Given the description of an element on the screen output the (x, y) to click on. 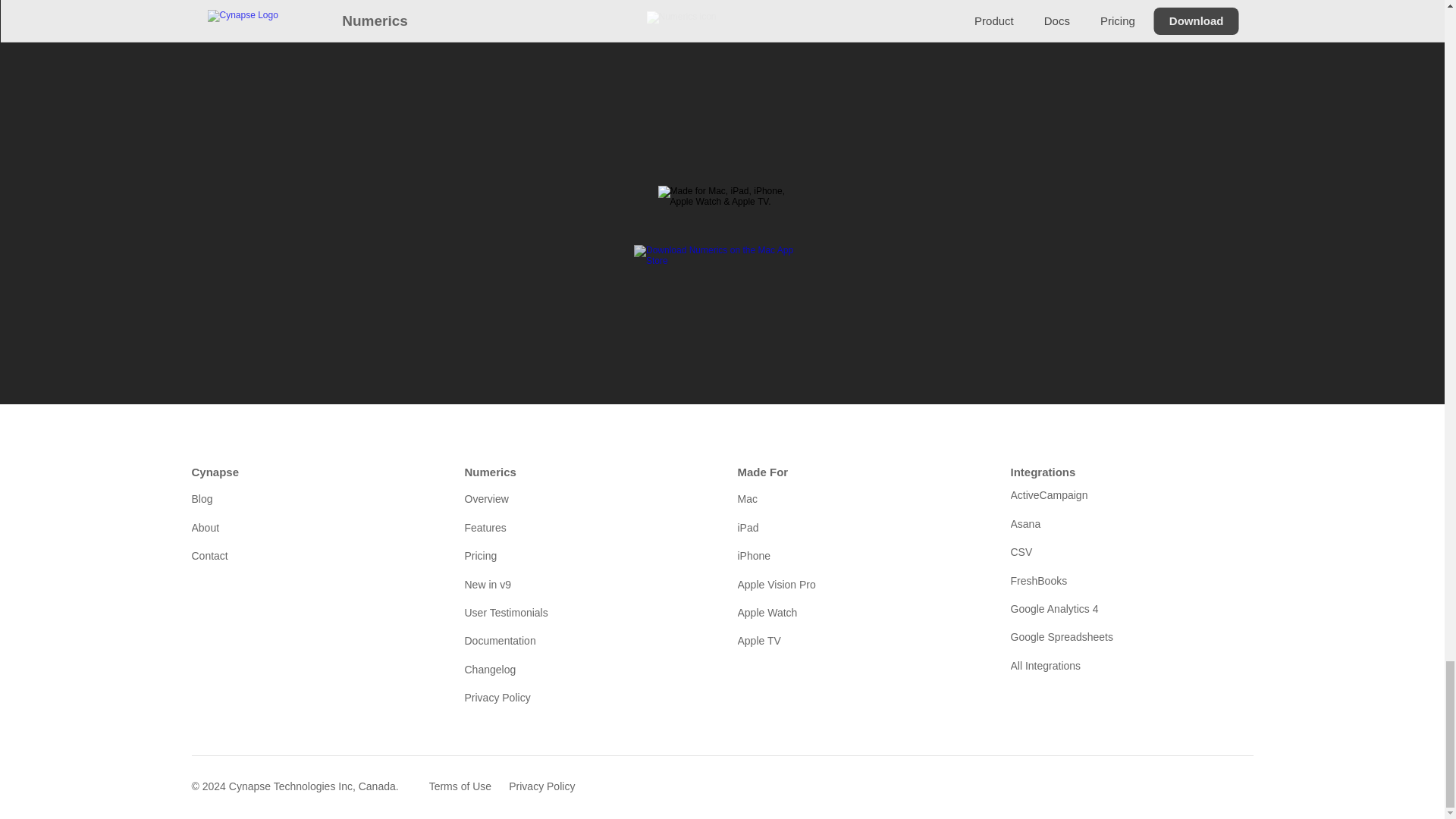
Contact (311, 555)
Blog (311, 498)
Overview (585, 498)
About (311, 527)
